Given the description of an element on the screen output the (x, y) to click on. 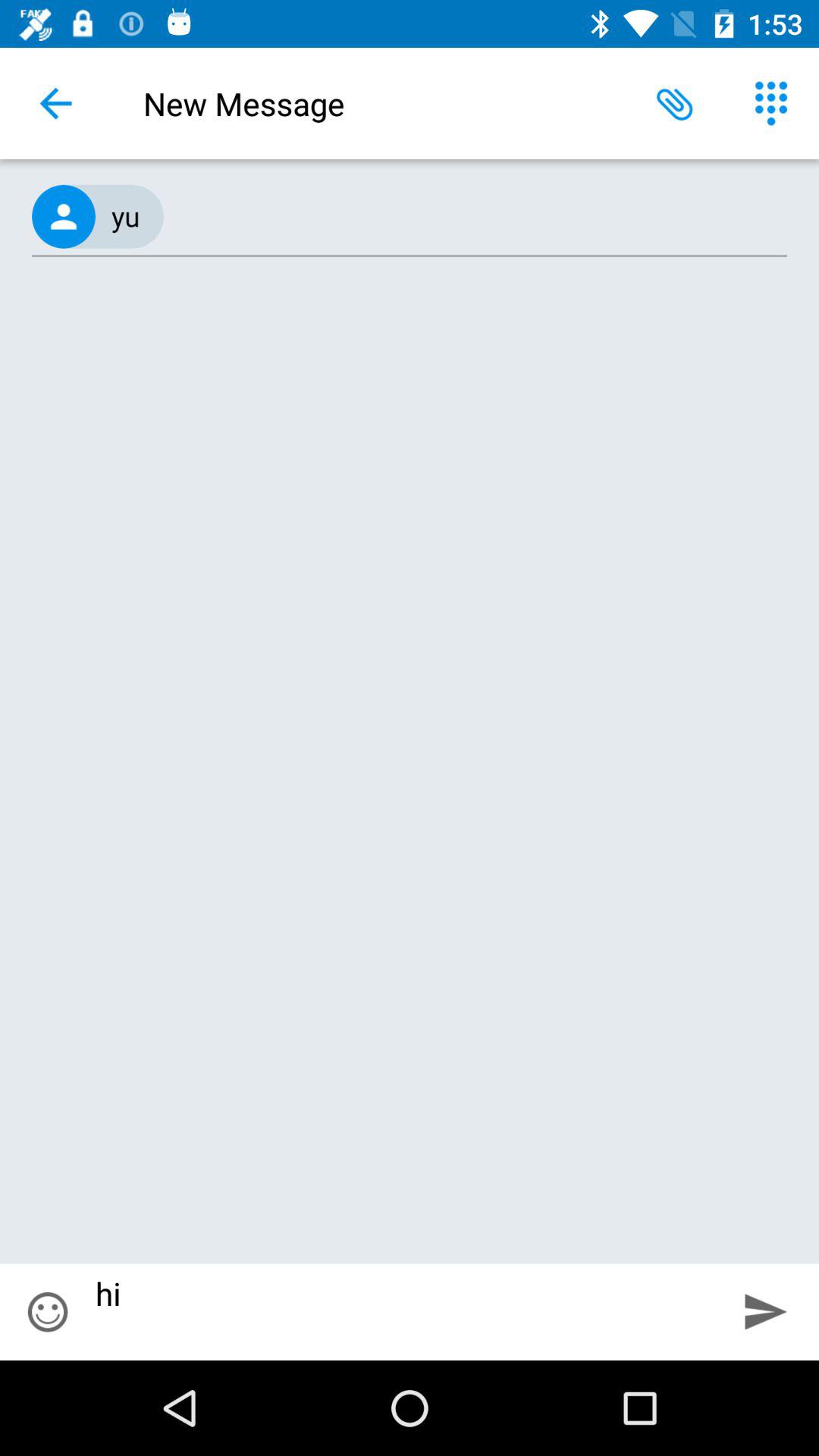
turn on the icon next to the hi
 icon (766, 1311)
